Given the description of an element on the screen output the (x, y) to click on. 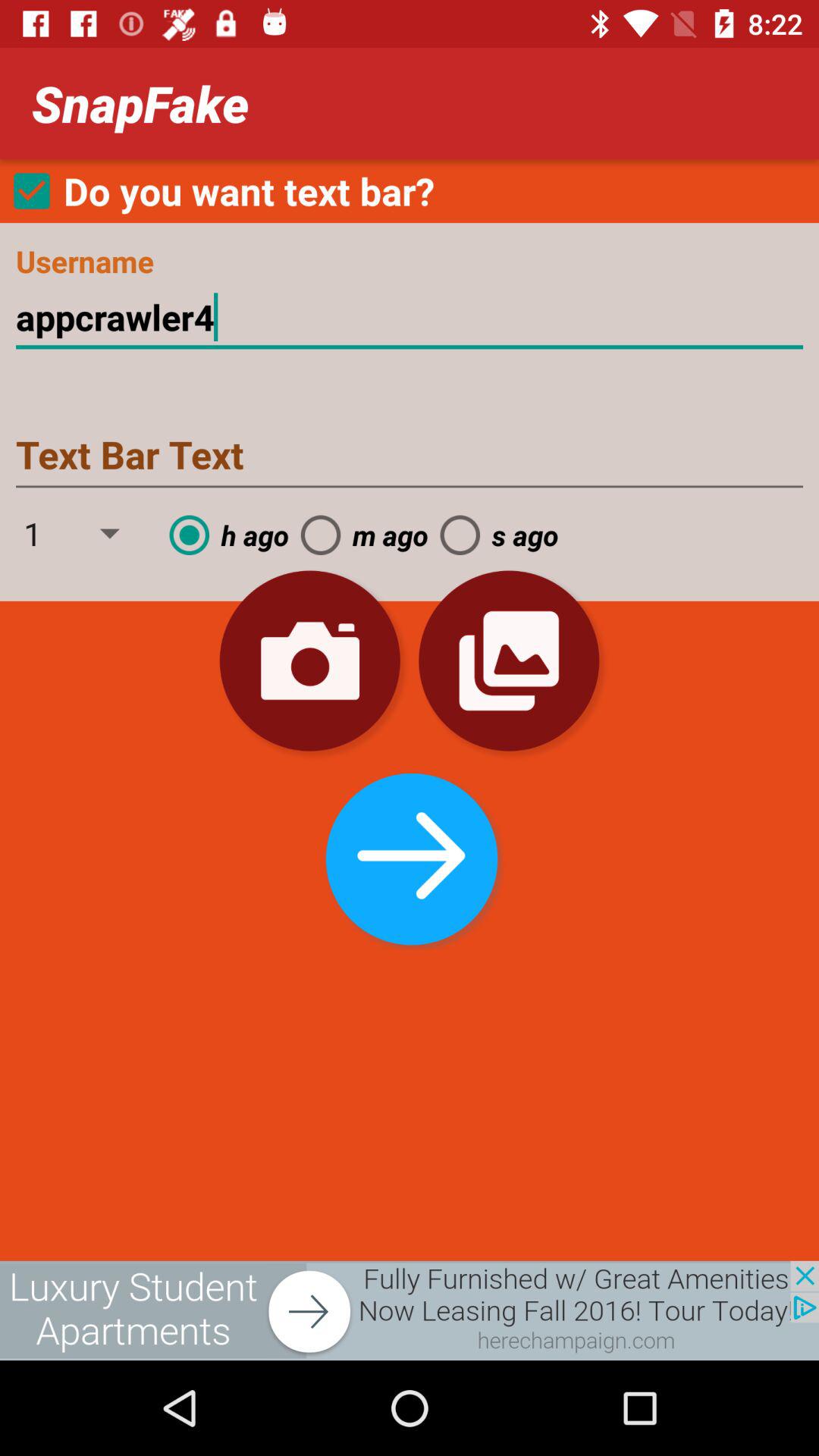
take picture (309, 660)
